Given the description of an element on the screen output the (x, y) to click on. 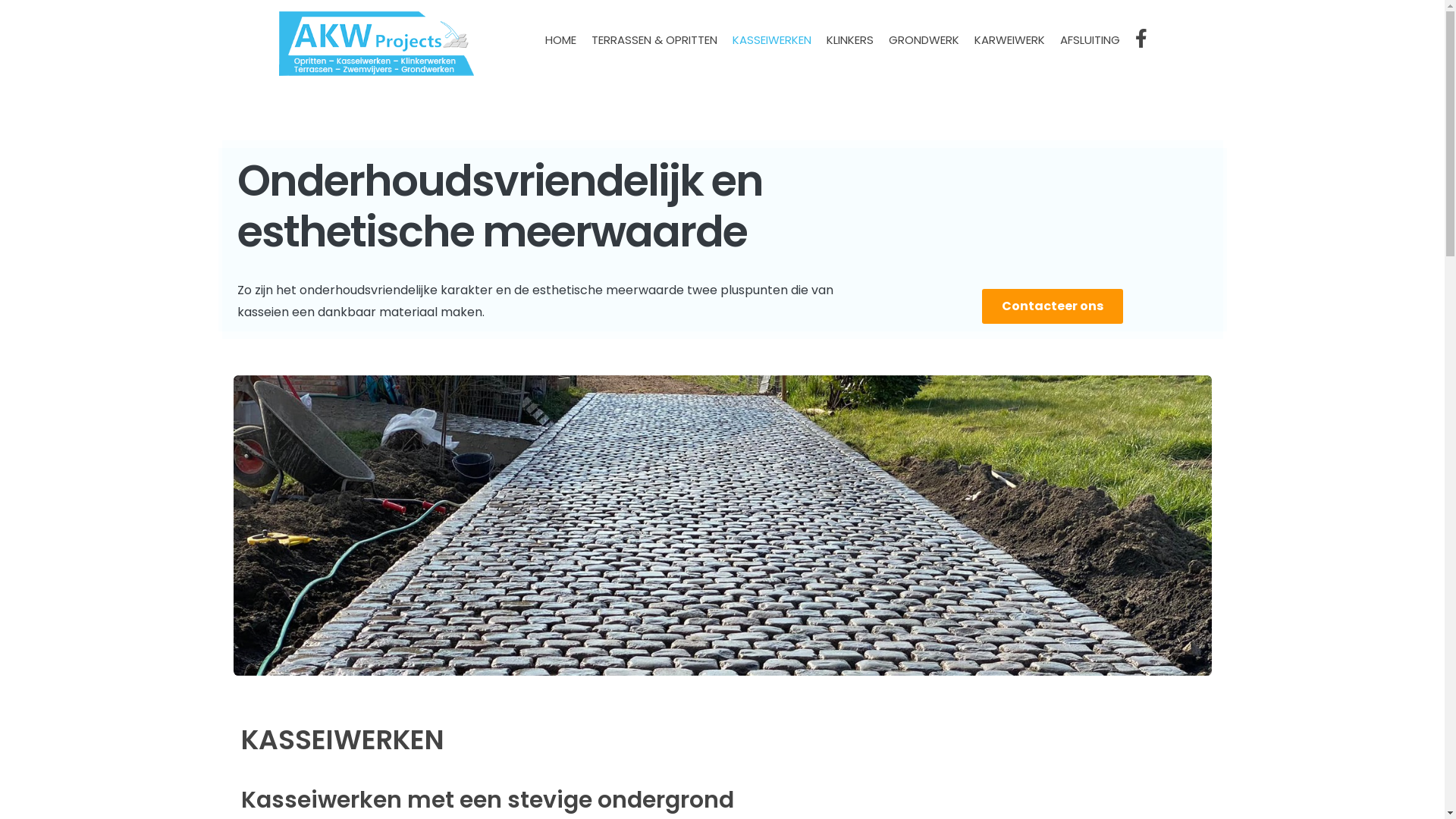
TERRASSEN & OPRITTEN Element type: text (653, 39)
AFSLUITING Element type: text (1089, 39)
KLINKERS Element type: text (850, 39)
GRONDWERK Element type: text (923, 39)
KASSEIWERKEN Element type: text (771, 39)
HOME Element type: text (559, 39)
Contacteer ons Element type: text (1052, 305)
KARWEIWERK Element type: text (1008, 39)
